Given the description of an element on the screen output the (x, y) to click on. 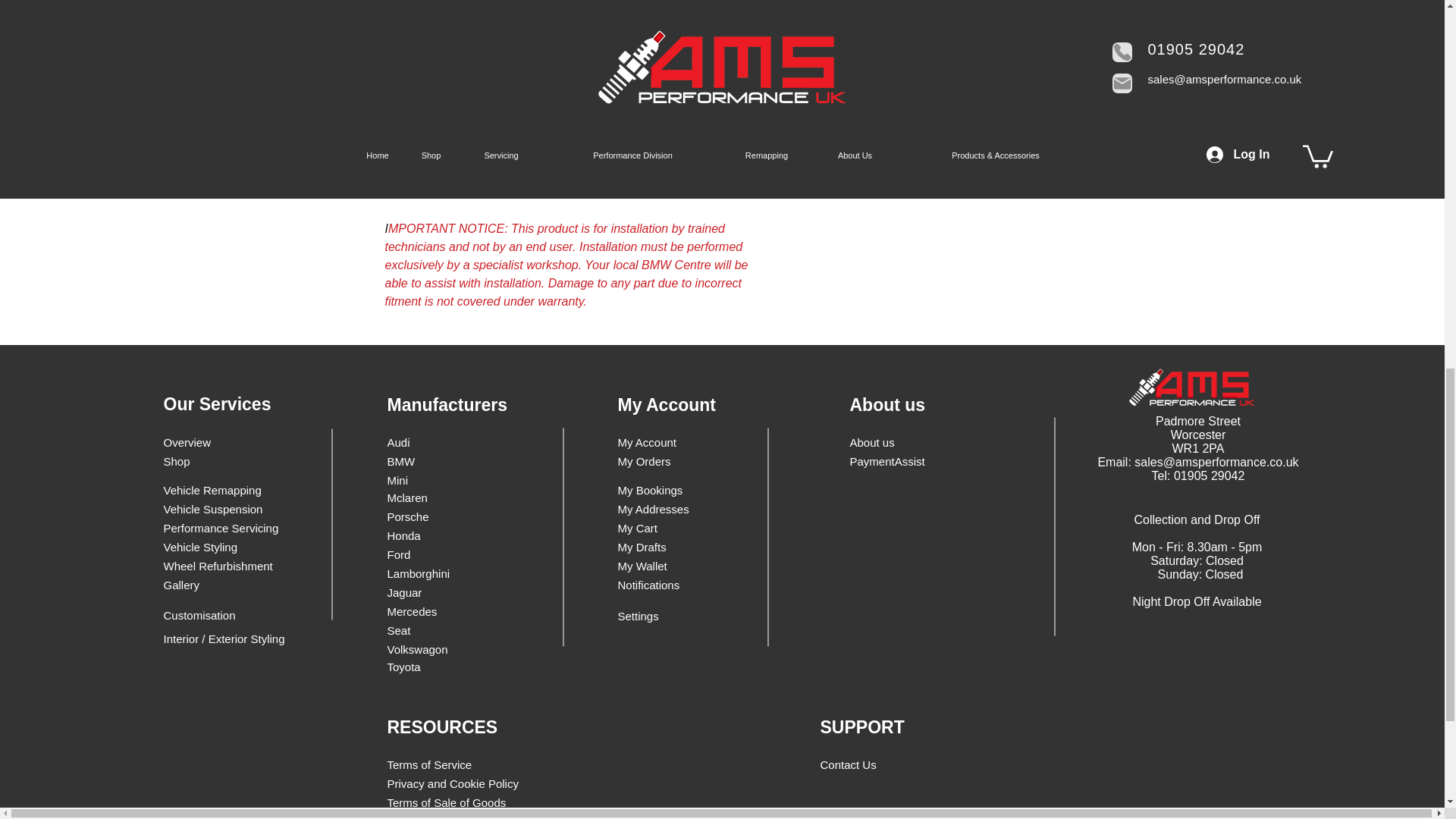
My Orders (655, 461)
My Cart (662, 527)
Vehicle Suspension (218, 508)
Shop (218, 461)
BMW (430, 461)
Mini (430, 479)
Porsche (425, 516)
Wheel Refurbishment (218, 565)
Mclaren (425, 497)
My Bookings (655, 489)
Vehicle Remapping (218, 489)
Performance Servicing (222, 527)
About us (903, 442)
Audi (430, 442)
Gallery (218, 584)
